Given the description of an element on the screen output the (x, y) to click on. 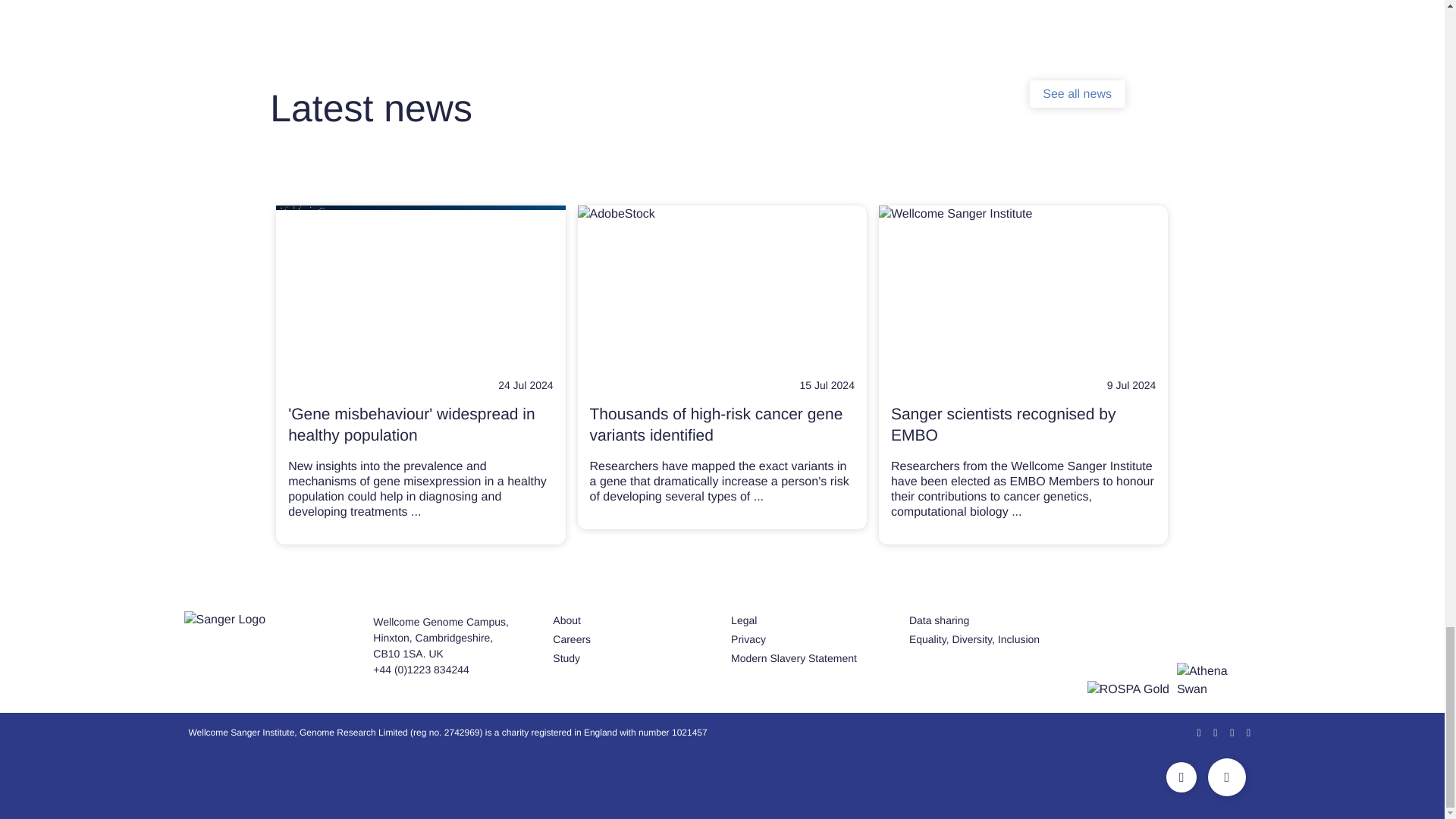
Wellcome Sanger Institute (1023, 286)
AdobeStock (420, 286)
... for complex diseases. (415, 512)
... and in-situ sequencing. (1016, 512)
AdobeStock (722, 286)
